Given the description of an element on the screen output the (x, y) to click on. 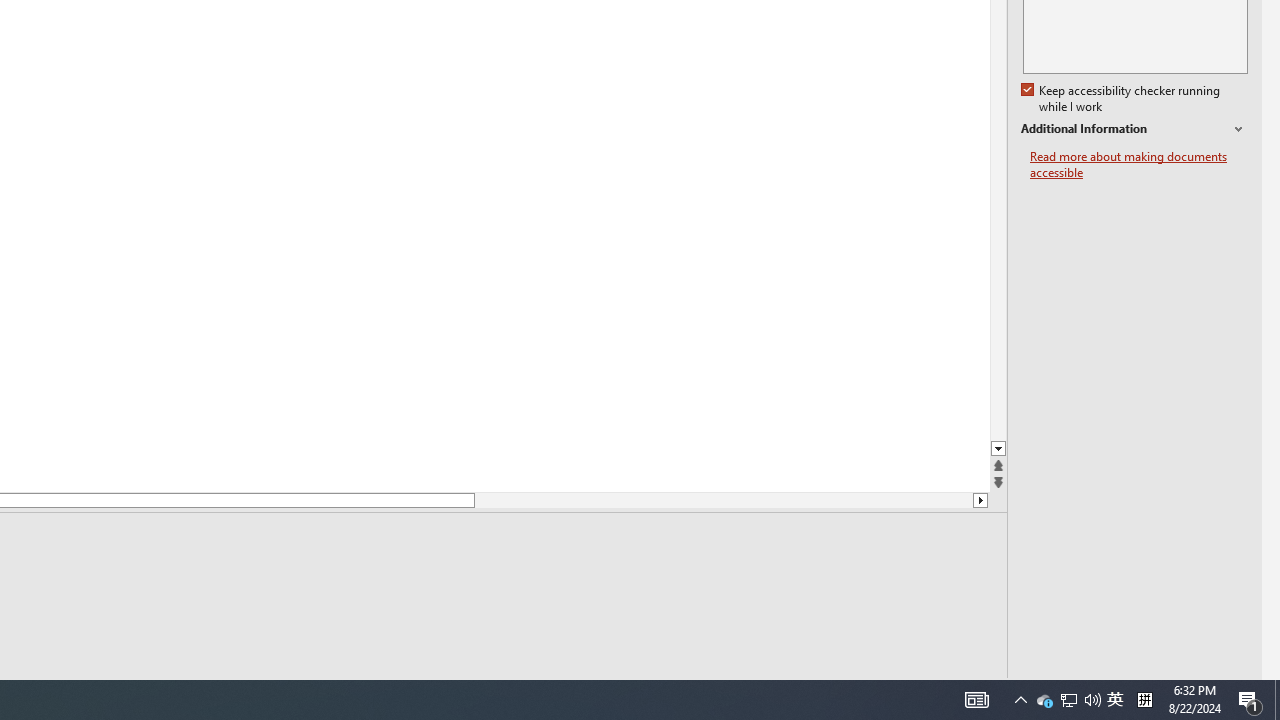
Keep accessibility checker running while I work (1122, 99)
Slide Show Next On (924, 691)
Slide Show Previous On (860, 691)
Menu On (892, 691)
Read more about making documents accessible (1139, 164)
Page down (723, 500)
Line down (980, 500)
Additional Information (1134, 129)
